Given the description of an element on the screen output the (x, y) to click on. 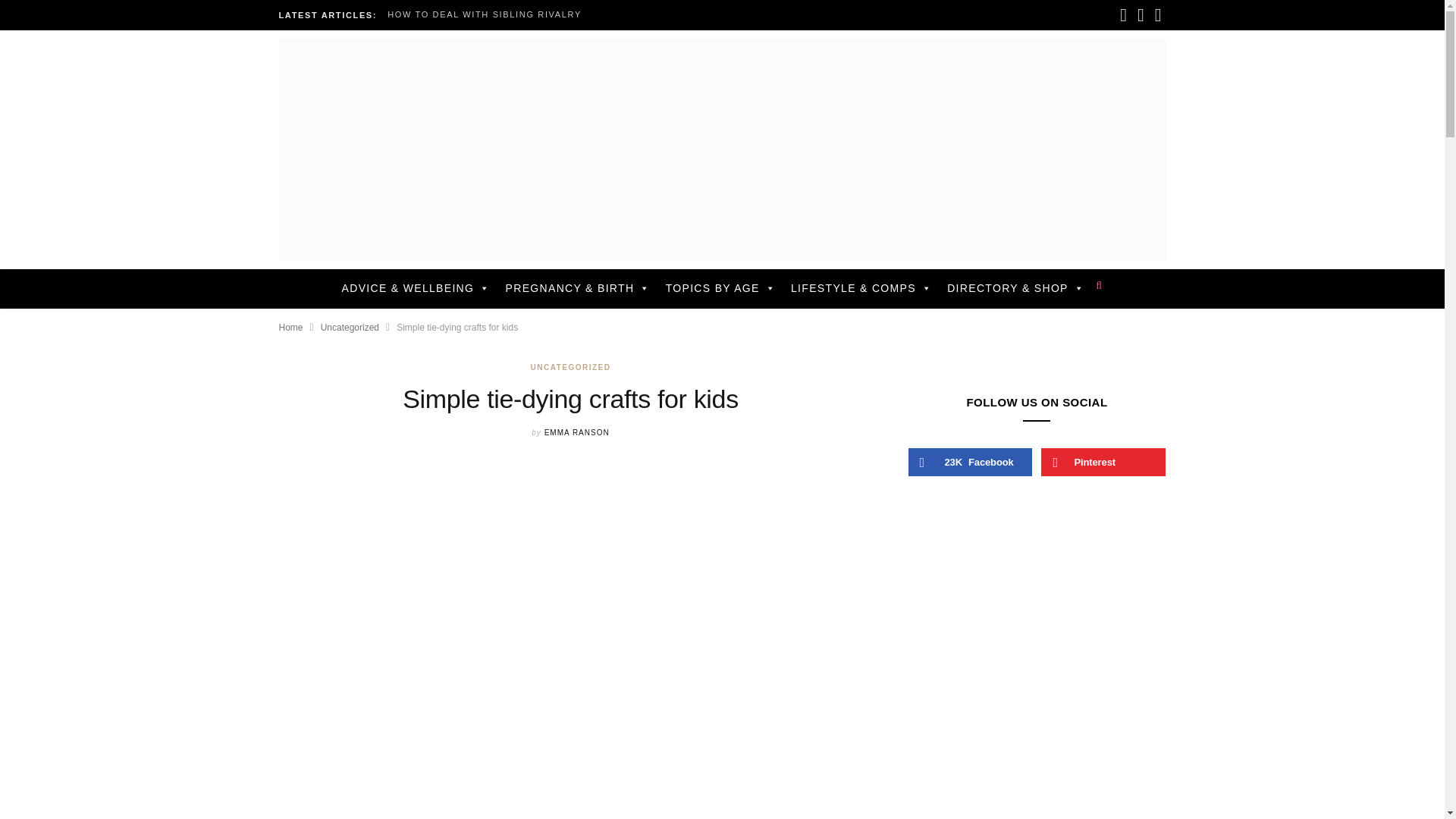
How to Deal with Sibling Rivalry (488, 14)
TOPICS BY AGE (720, 287)
HOW TO DEAL WITH SIBLING RIVALRY (488, 14)
Posts by Emma Ranson (577, 432)
